Given the description of an element on the screen output the (x, y) to click on. 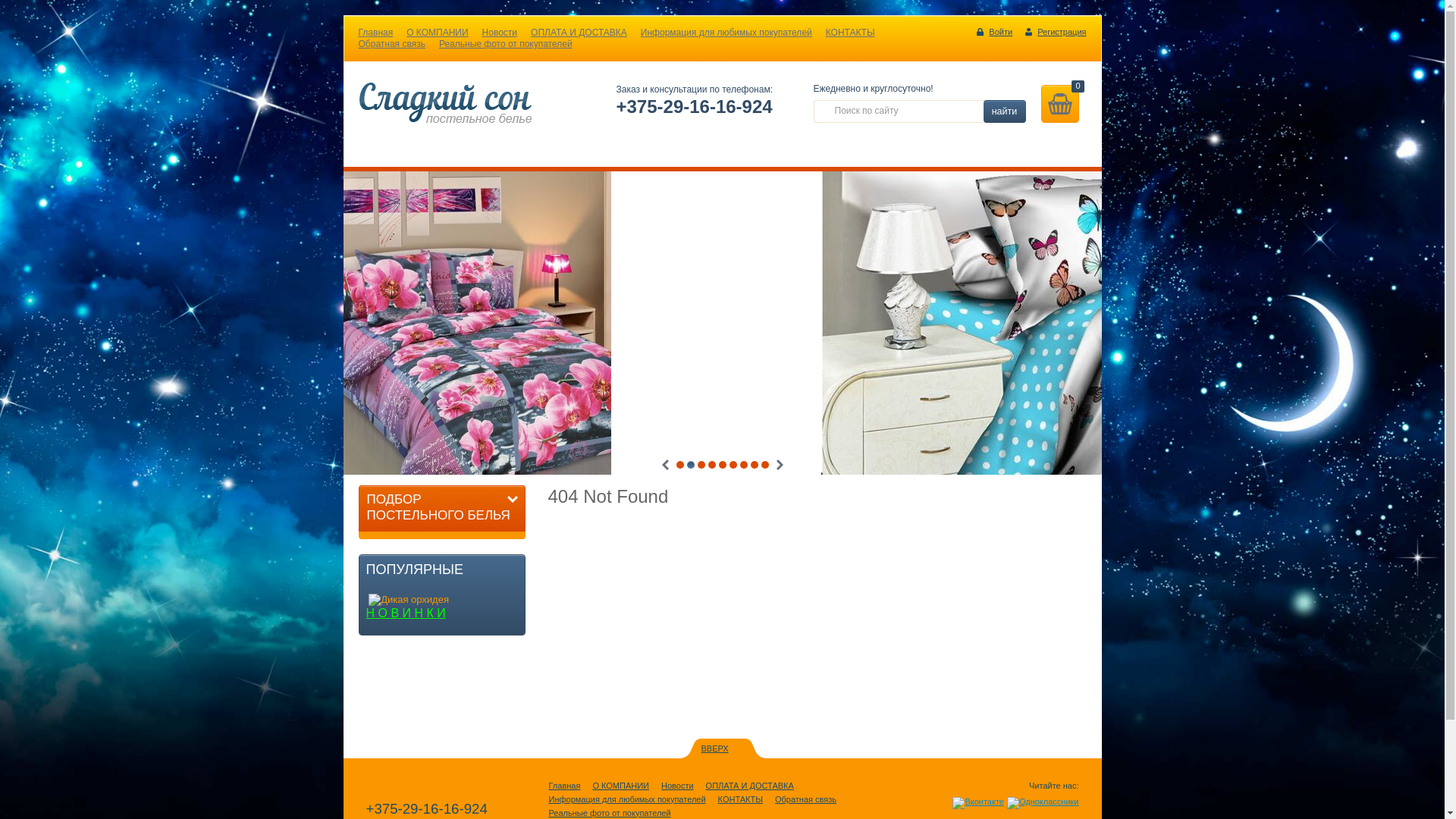
0 Element type: text (1059, 103)
